Given the description of an element on the screen output the (x, y) to click on. 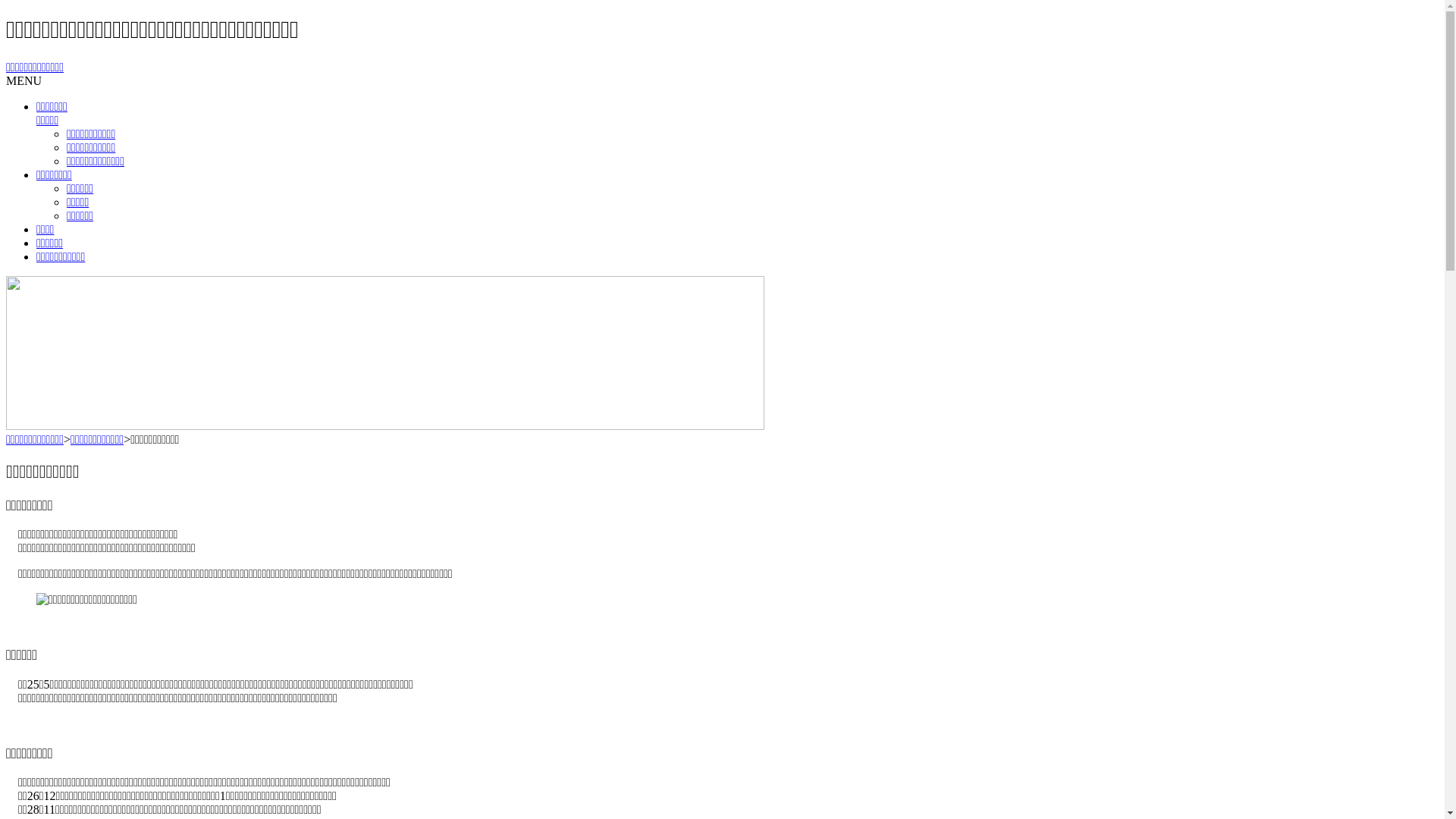
MENU Element type: text (23, 80)
